Given the description of an element on the screen output the (x, y) to click on. 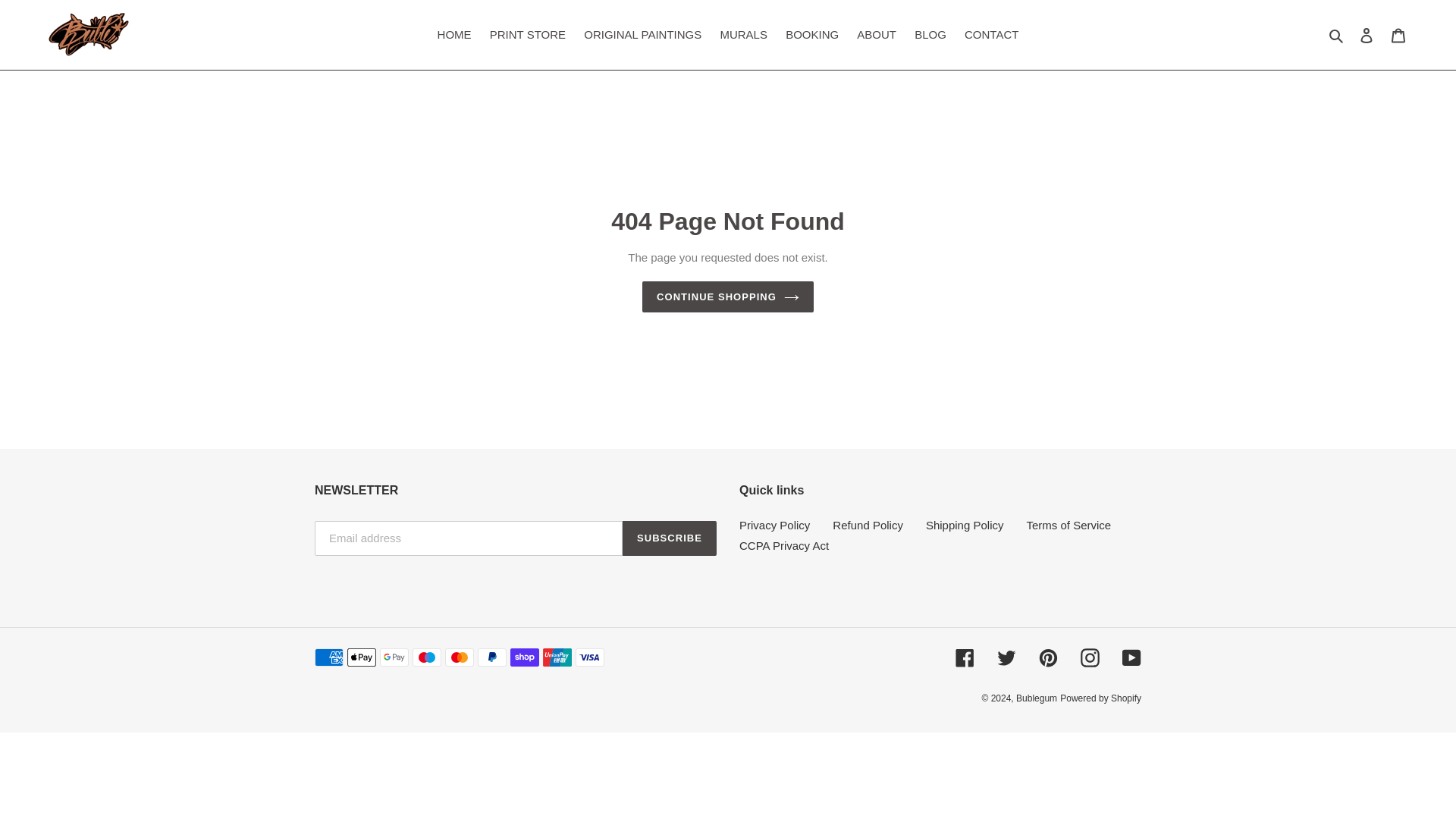
Shipping Policy (965, 524)
YouTube (1131, 657)
Refund Policy (867, 524)
Privacy Policy (774, 524)
Facebook (964, 657)
CONTINUE SHOPPING (727, 296)
Log in (1366, 34)
BLOG (930, 34)
Terms of Service (1068, 524)
Bublegum (1036, 697)
